Given the description of an element on the screen output the (x, y) to click on. 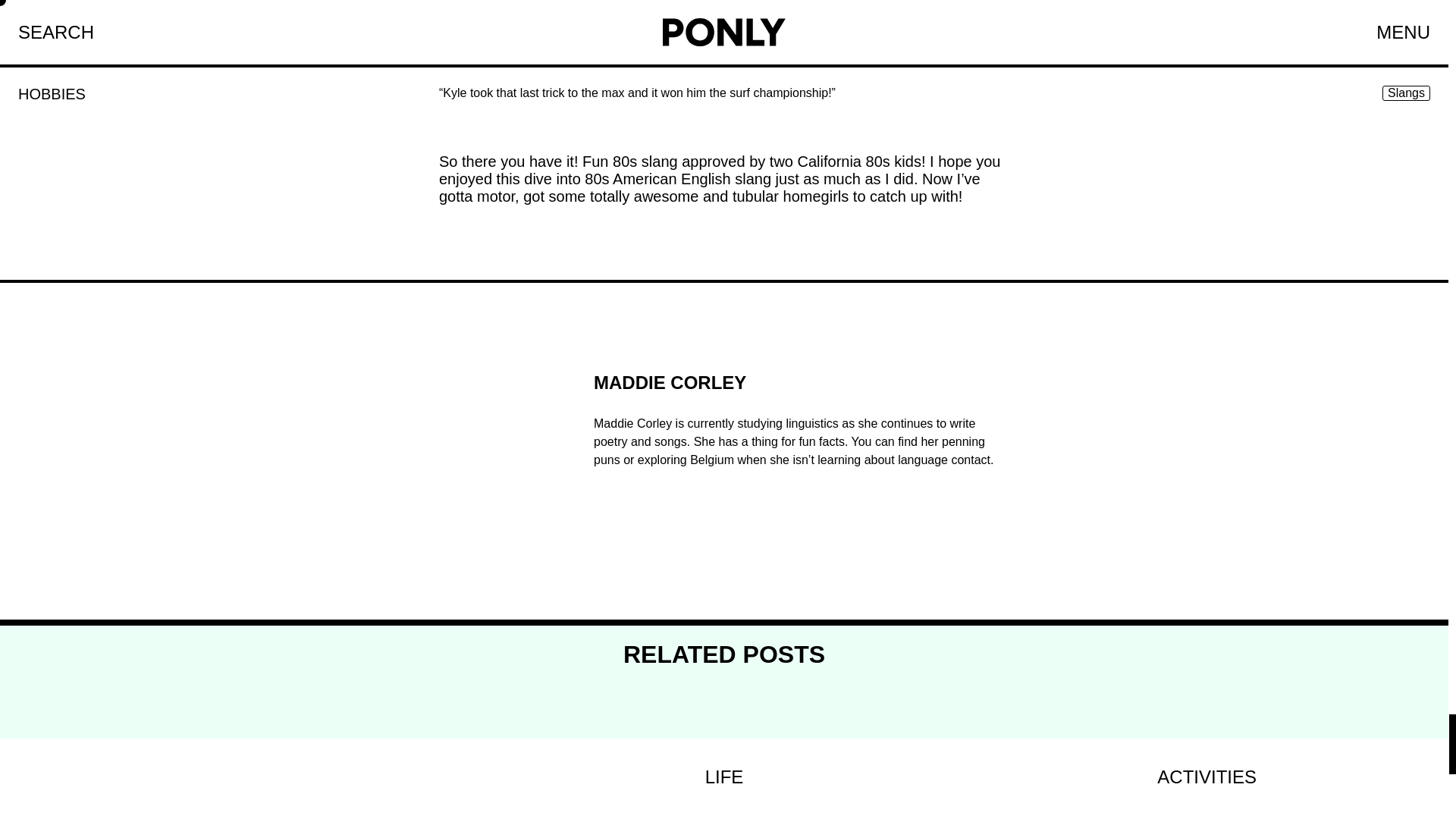
TOP 50 CORNY PICK UP LINES (241, 778)
Maddie Corley (497, 379)
MADDIE CORLEY (794, 391)
